Given the description of an element on the screen output the (x, y) to click on. 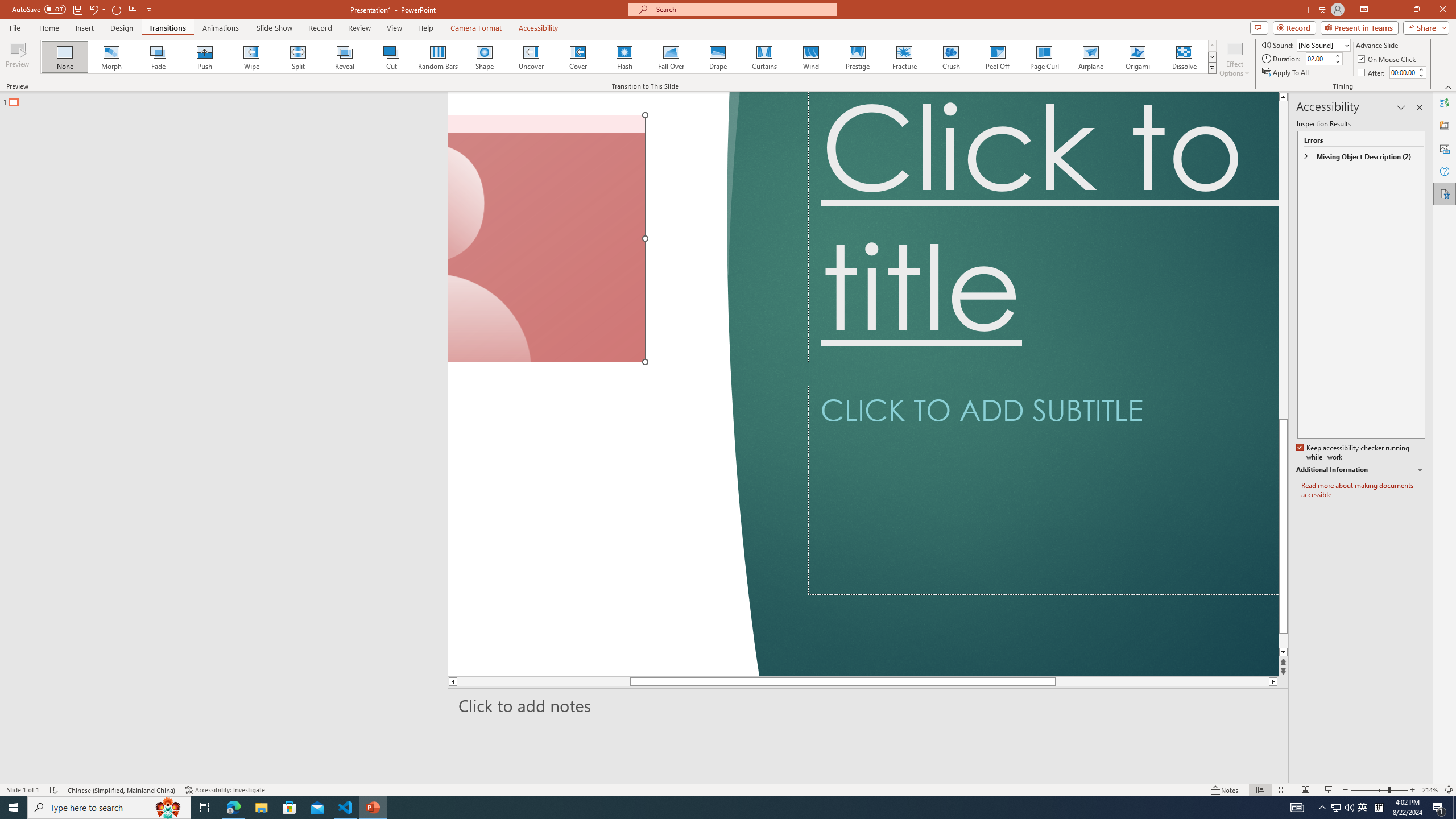
Apply To All (1286, 72)
After (1403, 72)
Flash (624, 56)
Title TextBox (1043, 226)
Shape (484, 56)
None (65, 56)
Fall Over (670, 56)
Rectangle (216, 437)
Drape (717, 56)
